Given the description of an element on the screen output the (x, y) to click on. 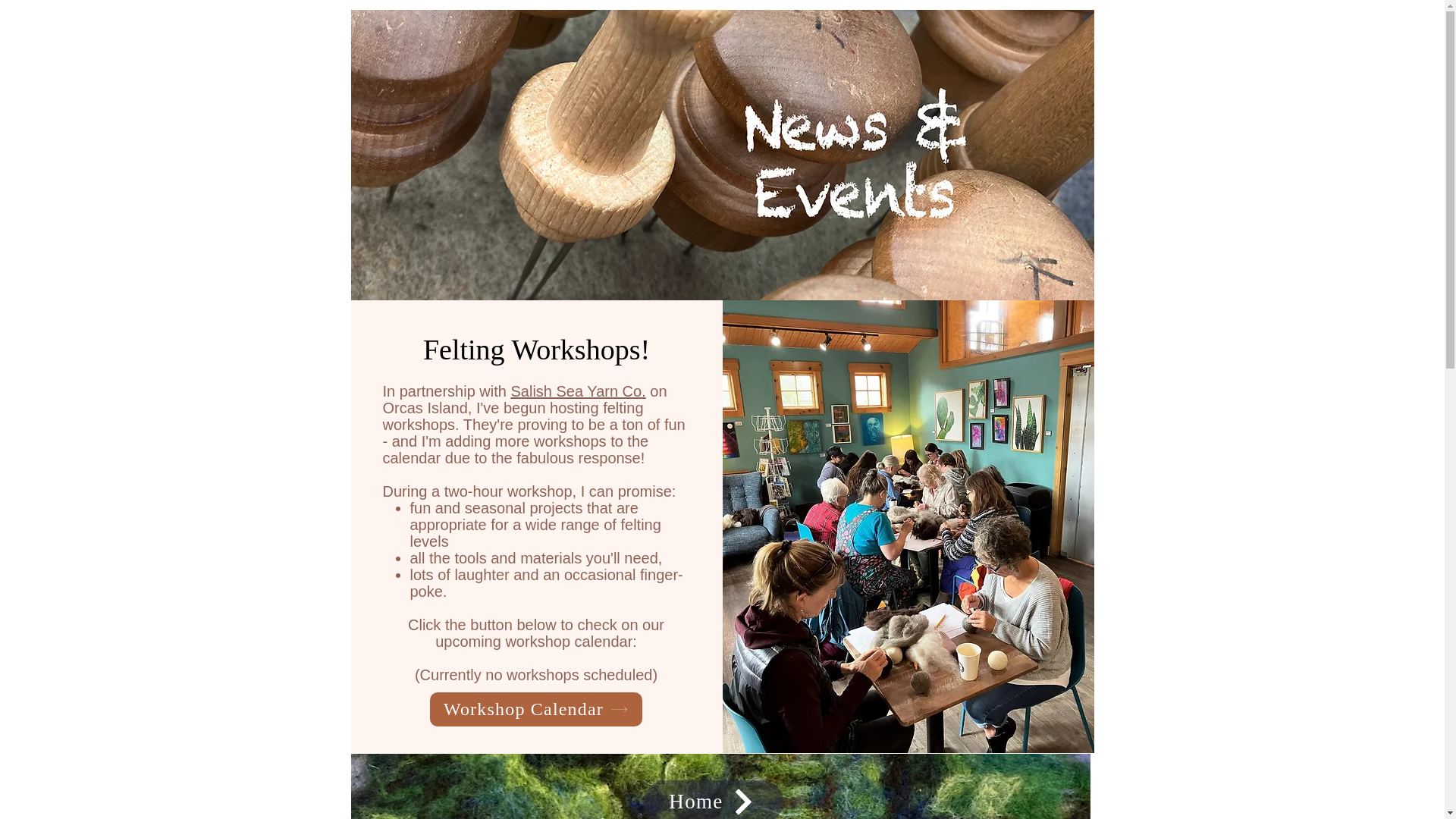
Home (713, 799)
Workshop Calendar (535, 709)
Salish Sea Yarn Co. (578, 391)
